Given the description of an element on the screen output the (x, y) to click on. 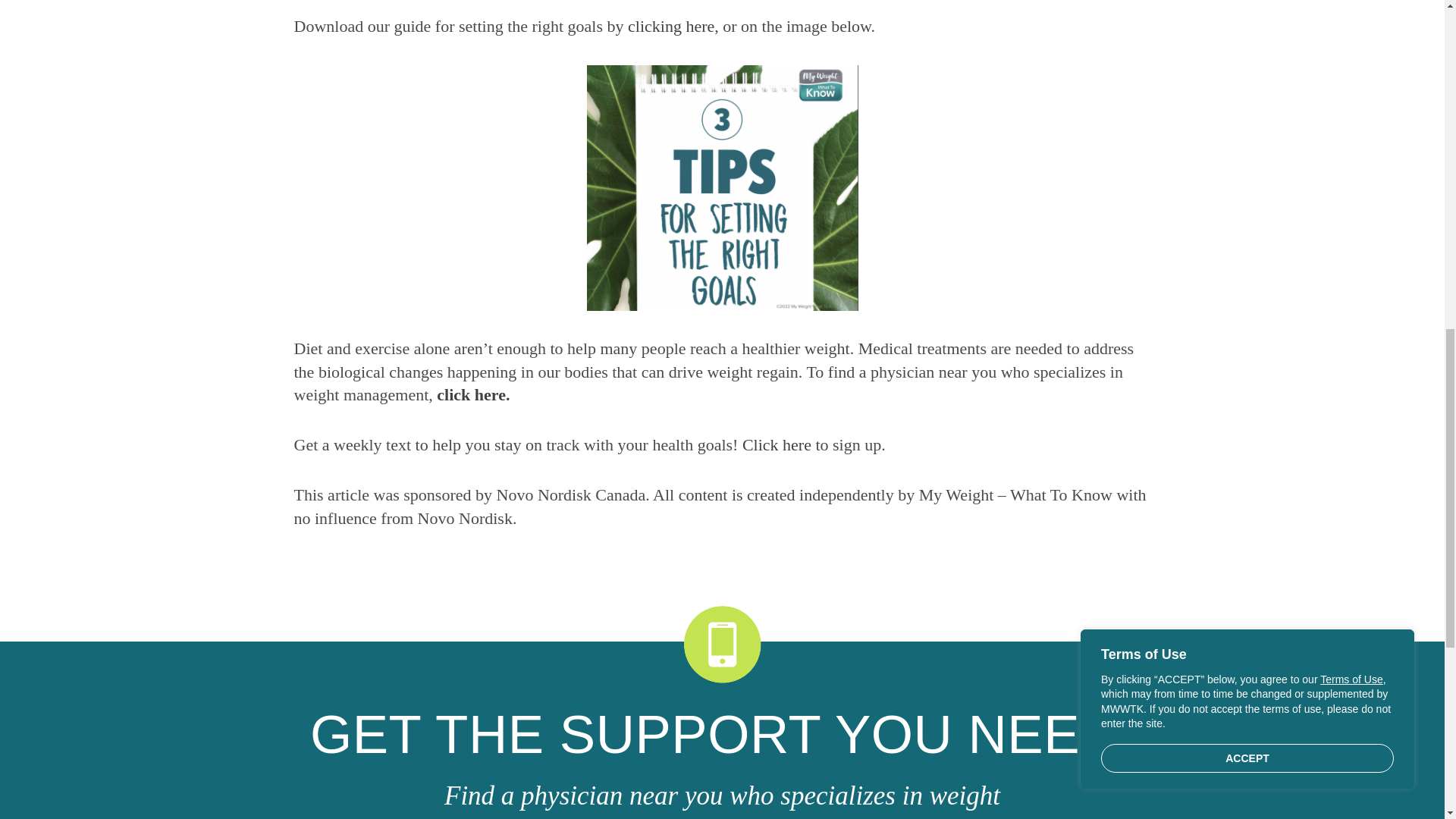
Click here (776, 444)
yellow-phone-icon (722, 644)
clicking here (670, 26)
click here. (472, 394)
